Given the description of an element on the screen output the (x, y) to click on. 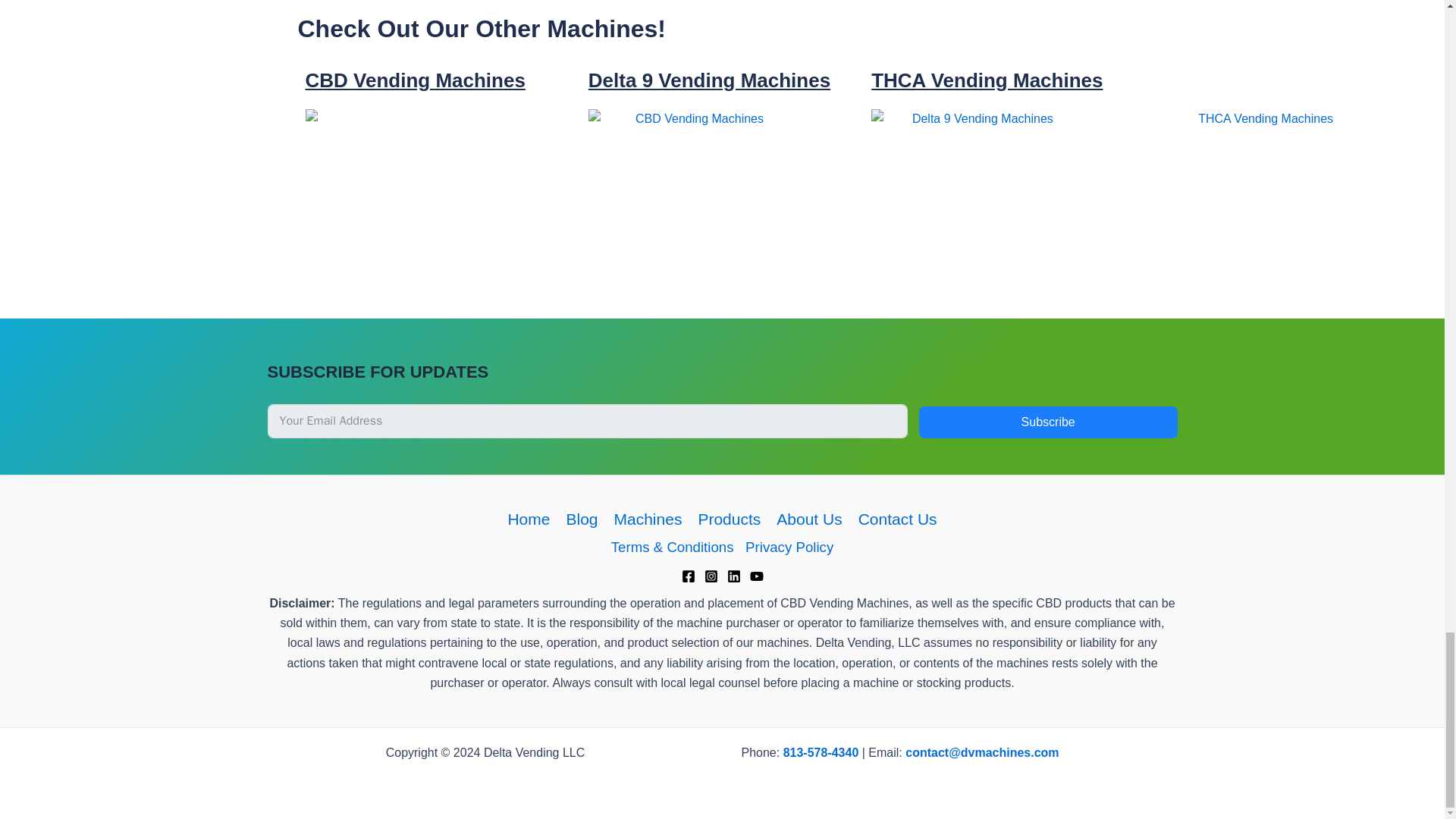
THCA Vending Machines (986, 79)
Delta 9 Vending Machines (708, 79)
CBD Vending Machines (414, 79)
